Given the description of an element on the screen output the (x, y) to click on. 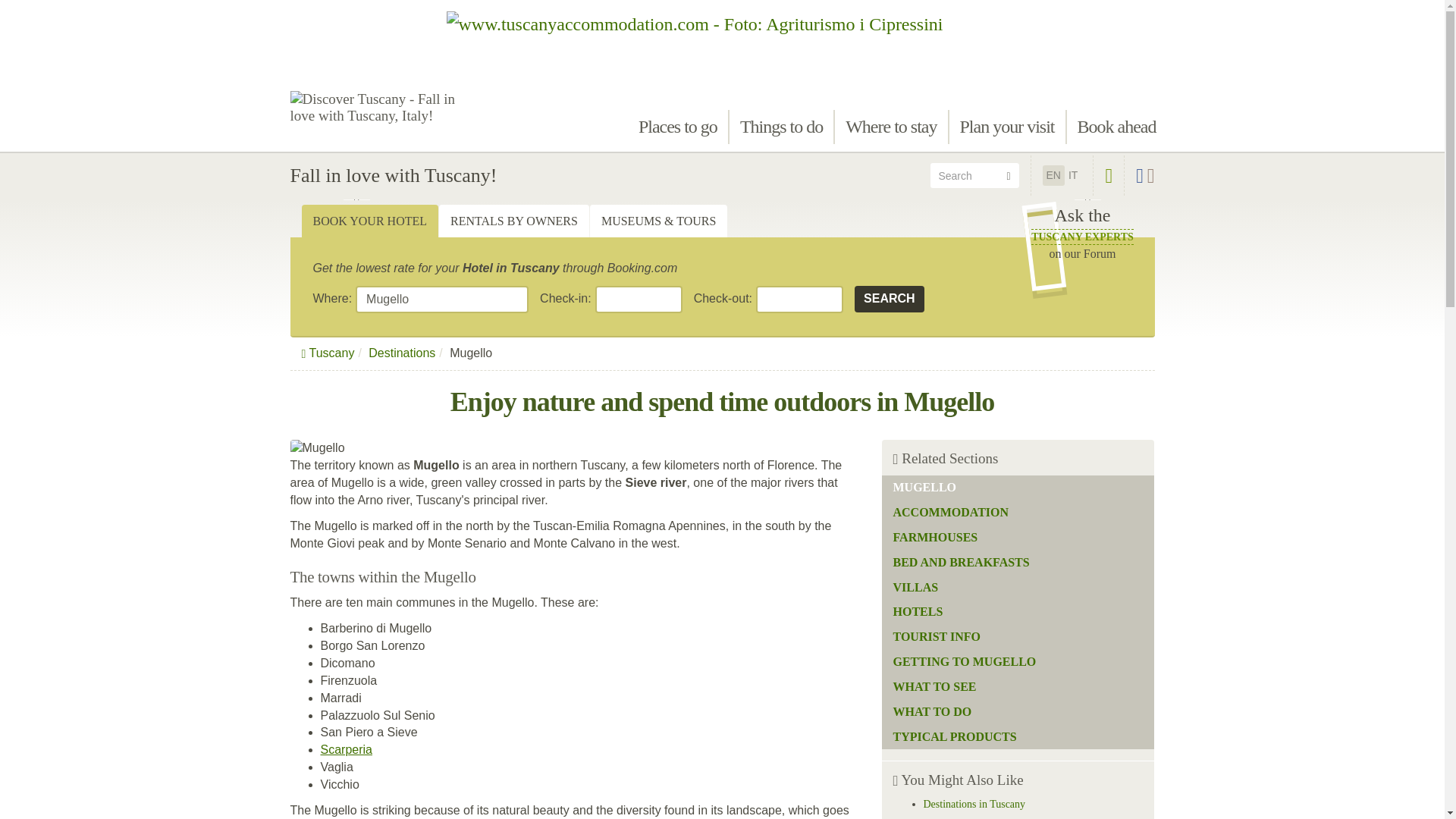
Mugello (441, 298)
Search (889, 298)
Mugello - Italiano (781, 126)
Mugello - English (677, 126)
City, Region, Country, Landmark, Hotel, District (1072, 174)
